Given the description of an element on the screen output the (x, y) to click on. 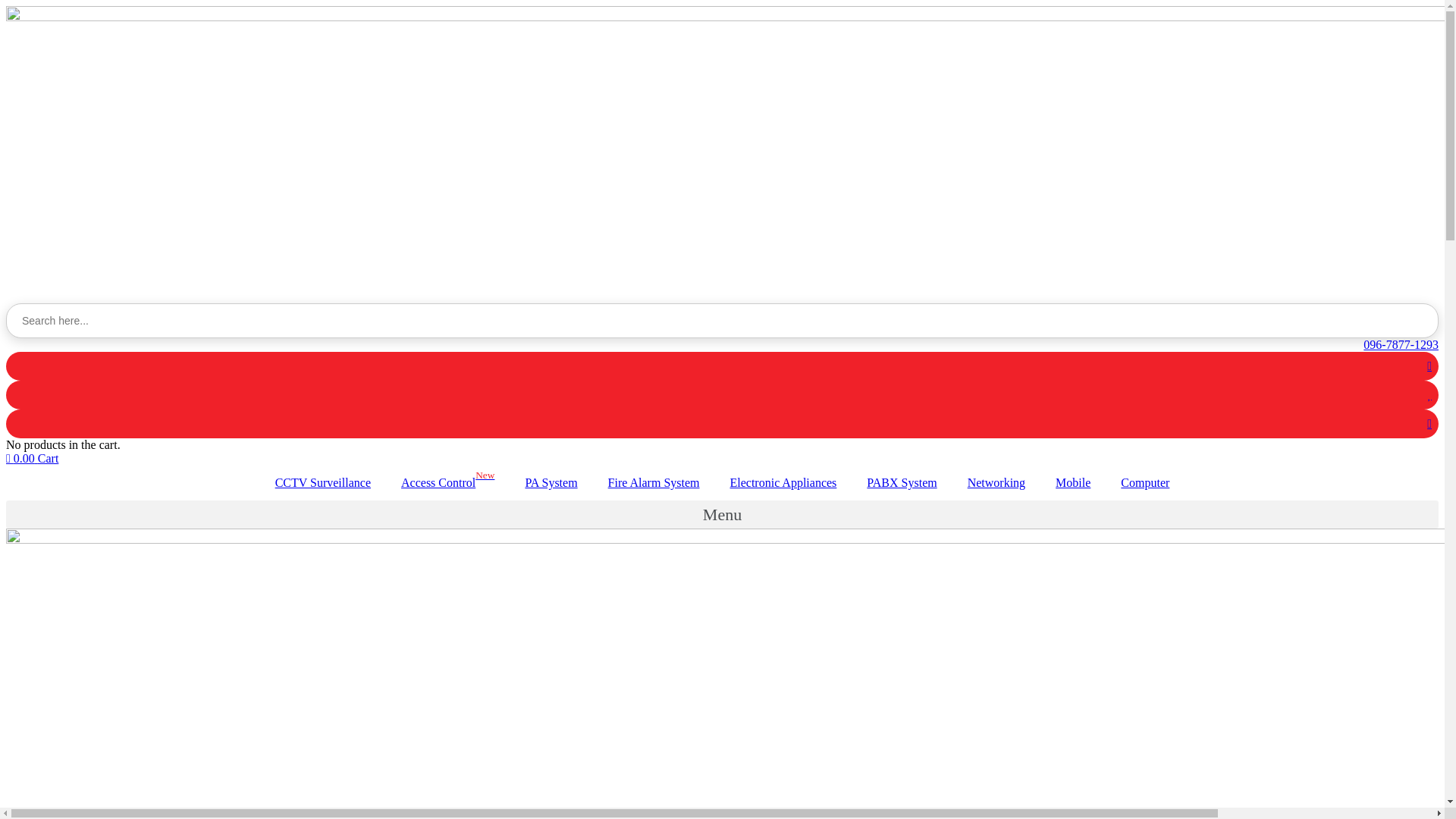
Computer Element type: text (1144, 482)
Mobile Element type: text (1072, 482)
Fire Alarm System Element type: text (654, 482)
Skip to content Element type: text (5, 5)
096-7877-1293 Element type: text (722, 344)
CCTV Surveillance Element type: text (322, 482)
Networking Element type: text (996, 482)
Access Control
New Element type: text (447, 482)
Electronic Appliances Element type: text (782, 482)
PA System Element type: text (550, 482)
PABX System Element type: text (901, 482)
